Given the description of an element on the screen output the (x, y) to click on. 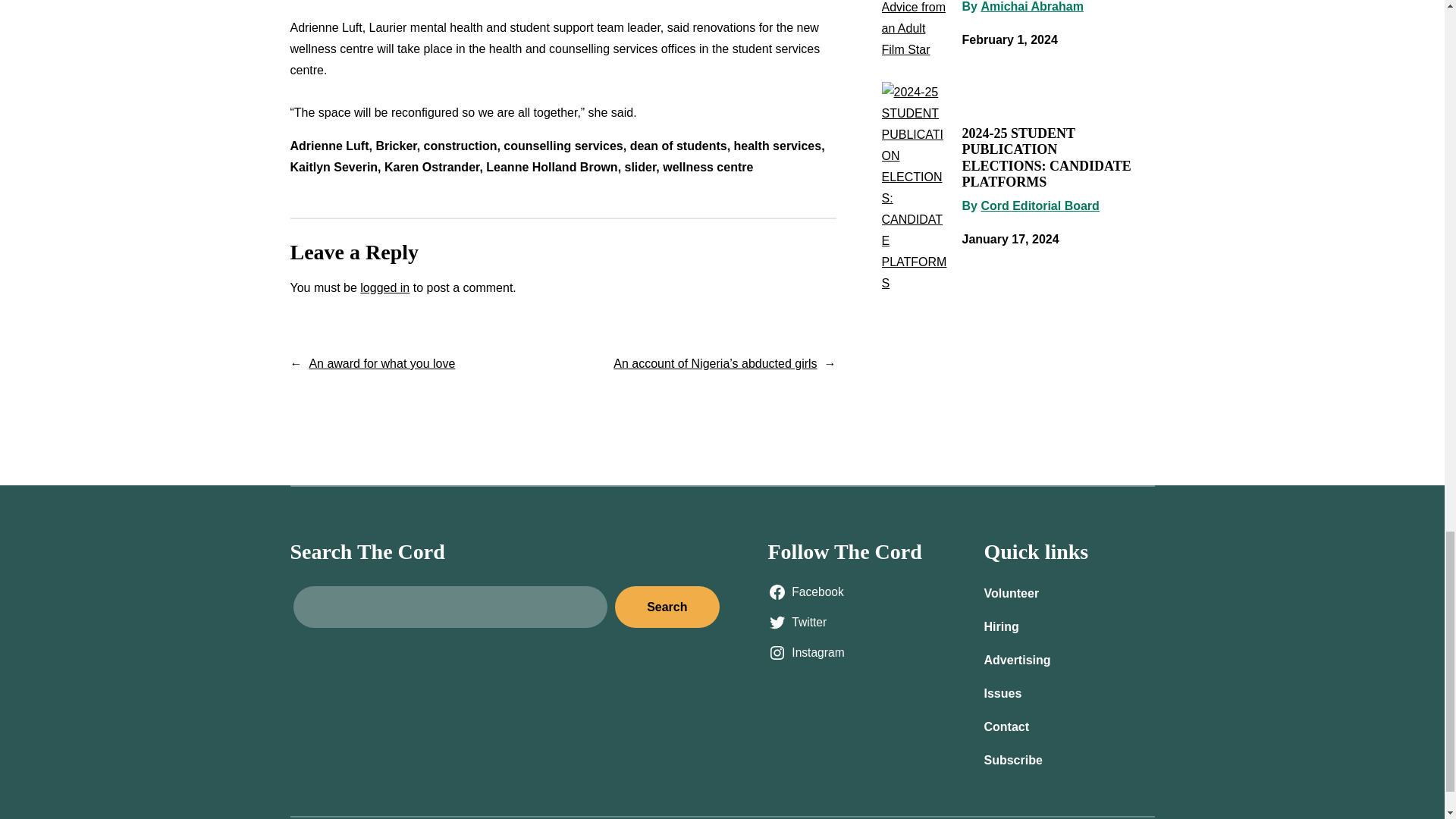
health services (777, 145)
counselling services (563, 145)
Posts by Cord Editorial Board (1039, 205)
dean of students (678, 145)
Adrienne Luft (328, 145)
construction (460, 145)
Bricker (395, 145)
Posts by Amichai Abraham (1031, 6)
Kaitlyn Severin (333, 166)
